Given the description of an element on the screen output the (x, y) to click on. 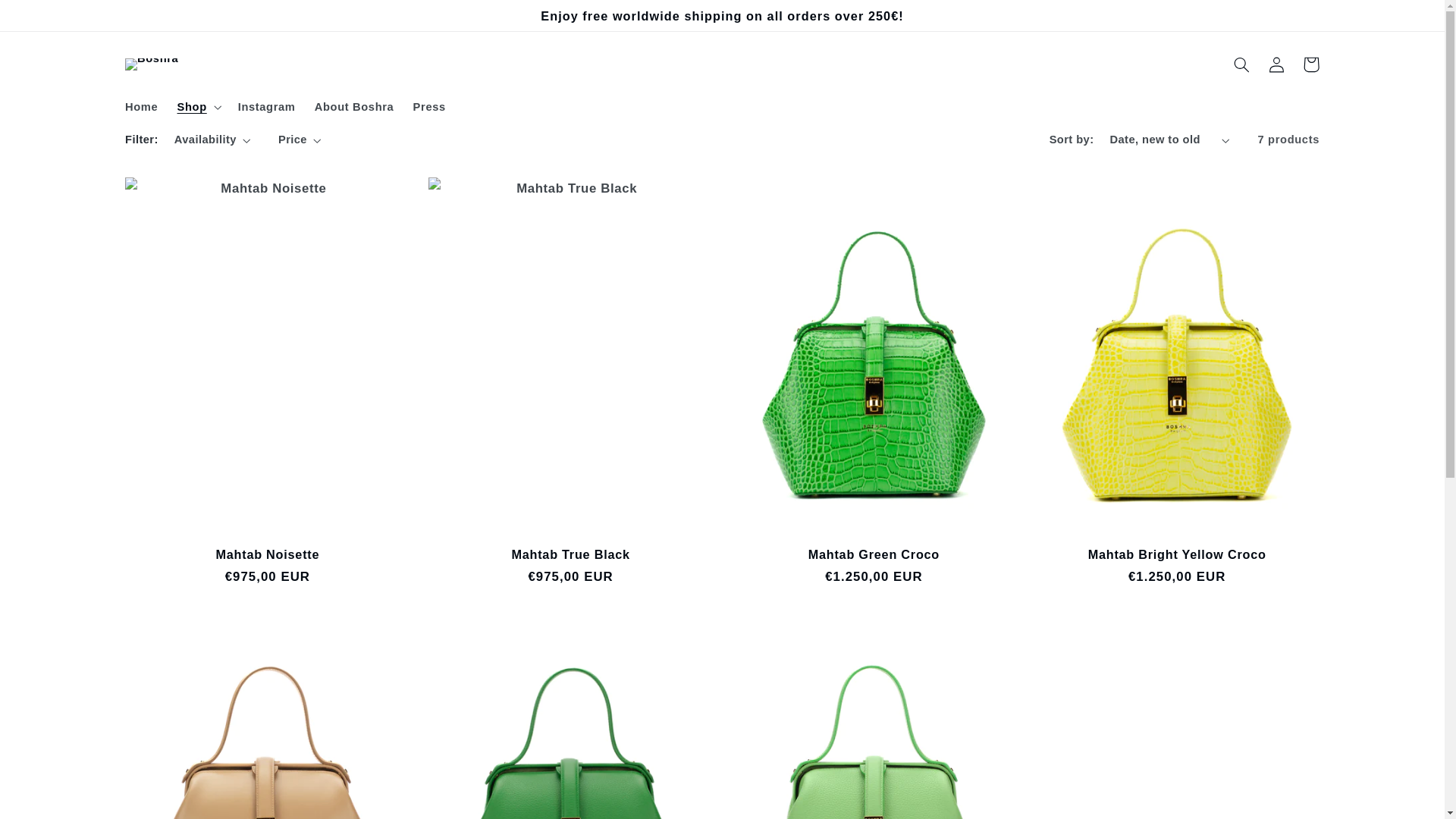
Cart Element type: text (1310, 64)
Press Element type: text (429, 107)
Log in Element type: text (1275, 64)
Mahtab Noisette Element type: text (267, 553)
Home Element type: text (141, 107)
Mahtab True Black Element type: text (570, 553)
Instagram Element type: text (266, 107)
About Boshra Element type: text (353, 107)
Mahtab Green Croco Element type: text (873, 553)
Mahtab Bright Yellow Croco Element type: text (1176, 553)
